Given the description of an element on the screen output the (x, y) to click on. 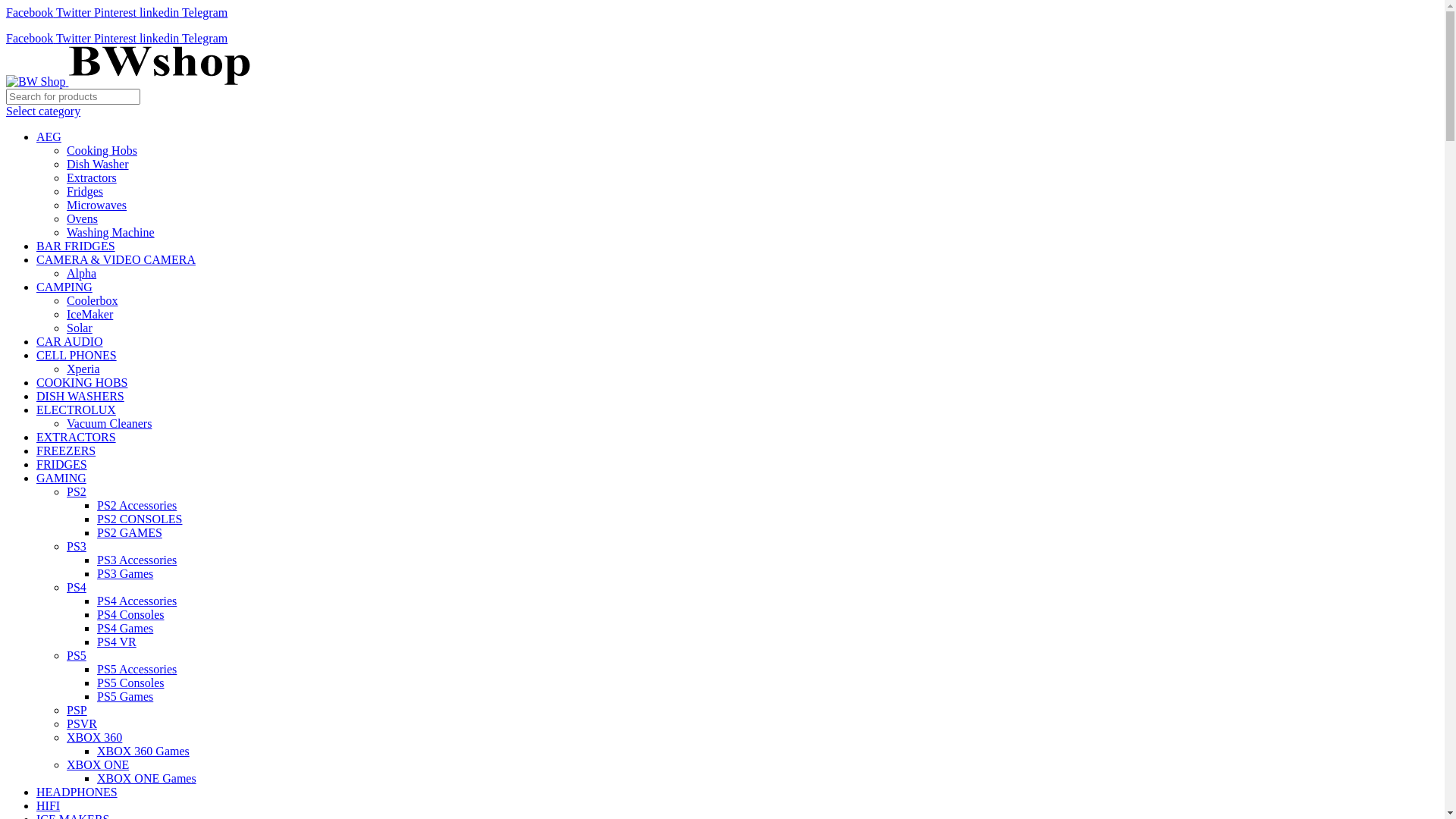
Washing Machine Element type: text (110, 231)
Microwaves Element type: text (96, 204)
PSVR Element type: text (81, 723)
PS2 CONSOLES Element type: text (139, 518)
XBOX ONE Games Element type: text (146, 777)
Ovens Element type: text (81, 218)
ELECTROLUX Element type: text (76, 409)
CAMERA & VIDEO CAMERA Element type: text (115, 259)
PS4 Games Element type: text (125, 627)
EXTRACTORS Element type: text (76, 436)
Twitter Element type: text (75, 12)
Alpha Element type: text (81, 272)
PS2 GAMES Element type: text (129, 532)
Facebook Element type: text (31, 12)
BAR FRIDGES Element type: text (75, 245)
Select category Element type: text (43, 110)
Vacuum Cleaners Element type: text (108, 423)
Facebook Element type: text (31, 37)
PS3 Element type: text (76, 545)
Telegram Element type: text (204, 37)
PS5 Element type: text (76, 655)
PS4 VR Element type: text (116, 641)
Pinterest Element type: text (116, 12)
HEADPHONES Element type: text (76, 791)
Telegram Element type: text (204, 12)
PSP Element type: text (76, 709)
GAMING Element type: text (61, 477)
AEG Element type: text (48, 136)
Extractors Element type: text (91, 177)
HIFI Element type: text (47, 805)
XBOX ONE Element type: text (97, 764)
PS5 Games Element type: text (125, 696)
CAR AUDIO Element type: text (69, 341)
Coolerbox Element type: text (92, 300)
FREEZERS Element type: text (65, 450)
Solar Element type: text (79, 327)
Xperia Element type: text (83, 368)
PS4 Consoles Element type: text (130, 614)
CAMPING Element type: text (64, 286)
Cooking Hobs Element type: text (101, 150)
PS5 Consoles Element type: text (130, 682)
IceMaker Element type: text (89, 313)
XBOX 360 Element type: text (94, 737)
Twitter Element type: text (75, 37)
PS2 Element type: text (76, 491)
PS5 Accessories Element type: text (136, 668)
Fridges Element type: text (84, 191)
linkedin Element type: text (160, 12)
PS3 Games Element type: text (125, 573)
PS4 Accessories Element type: text (136, 600)
PS2 Accessories Element type: text (136, 504)
CELL PHONES Element type: text (76, 354)
Dish Washer Element type: text (97, 163)
Pinterest Element type: text (116, 37)
FRIDGES Element type: text (61, 464)
PS3 Accessories Element type: text (136, 559)
XBOX 360 Games Element type: text (143, 750)
PS4 Element type: text (76, 586)
DISH WASHERS Element type: text (80, 395)
COOKING HOBS Element type: text (81, 382)
linkedin Element type: text (160, 37)
